Given the description of an element on the screen output the (x, y) to click on. 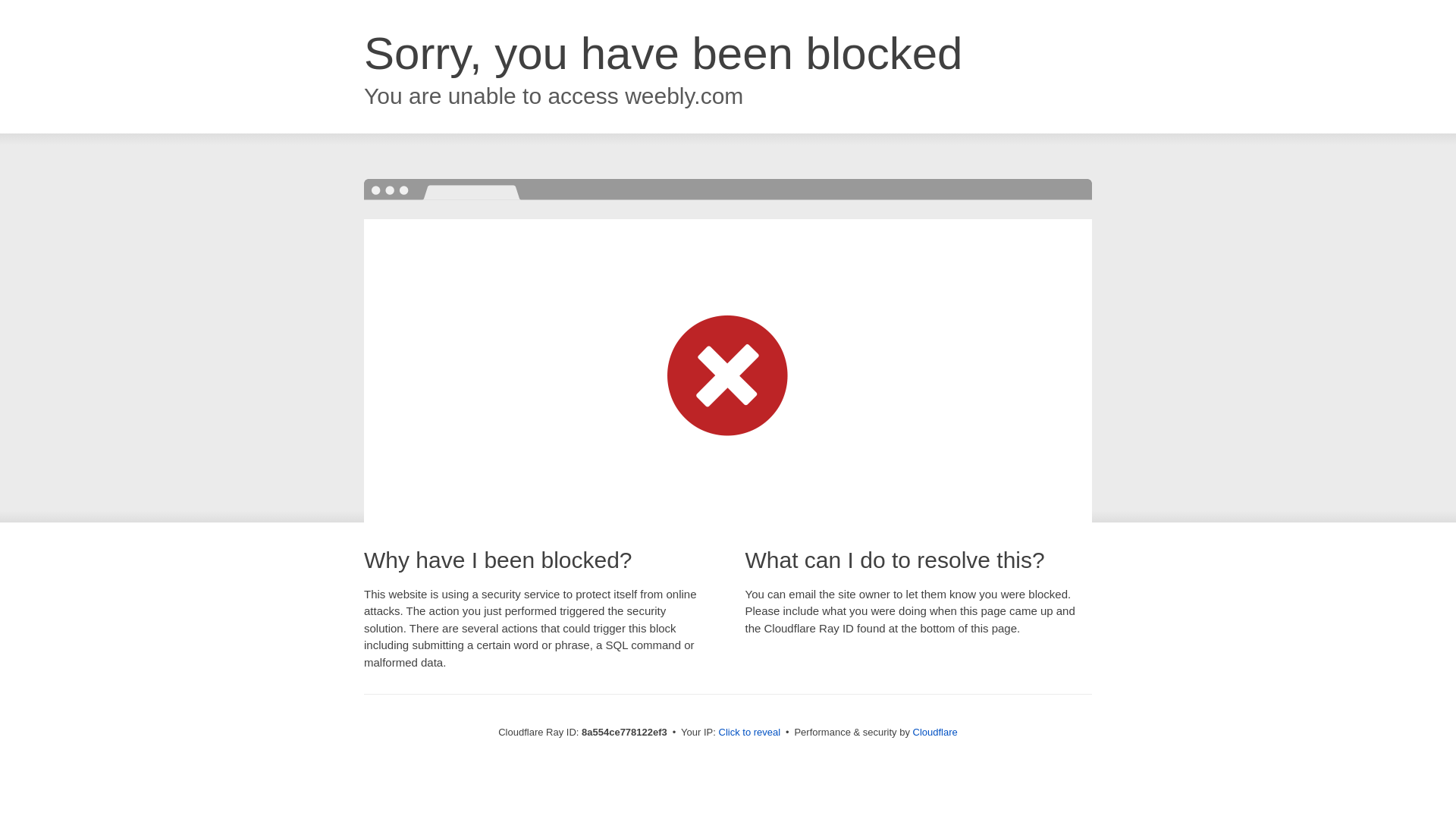
Click to reveal (749, 732)
Cloudflare (935, 731)
